Given the description of an element on the screen output the (x, y) to click on. 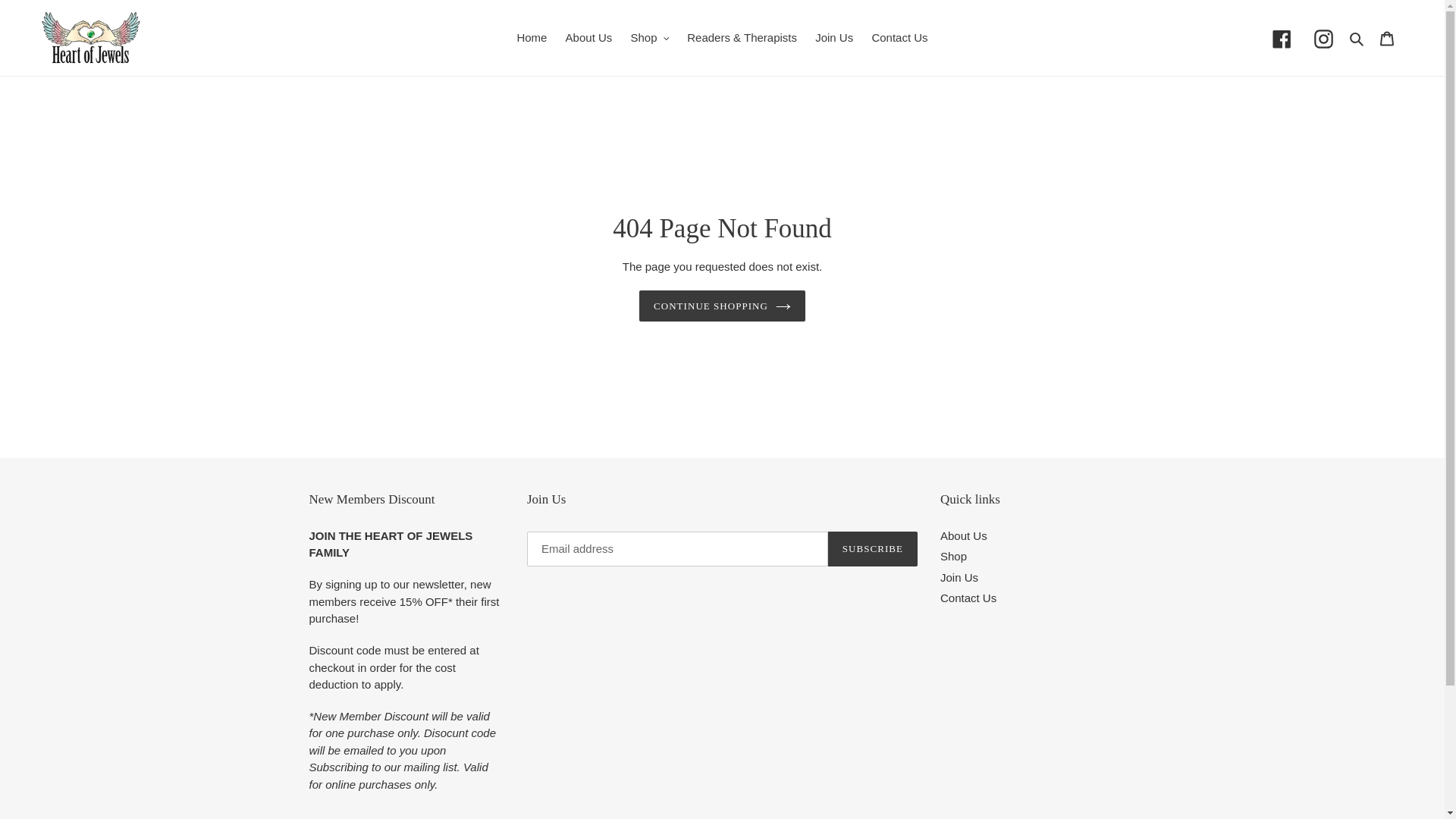
Contact Us Element type: text (899, 38)
Facebook Element type: text (1281, 38)
Instagram Element type: text (1323, 38)
About Us Element type: text (963, 535)
Home Element type: text (531, 38)
CONTINUE SHOPPING Element type: text (722, 305)
Shop Element type: text (953, 555)
Contact Us Element type: text (968, 597)
Search Element type: text (1357, 37)
Join Us Element type: text (833, 38)
Readers & Therapists Element type: text (741, 38)
About Us Element type: text (589, 38)
Join Us Element type: text (959, 577)
SUBSCRIBE Element type: text (872, 548)
Cart Element type: text (1386, 37)
Shop Element type: text (649, 38)
